Given the description of an element on the screen output the (x, y) to click on. 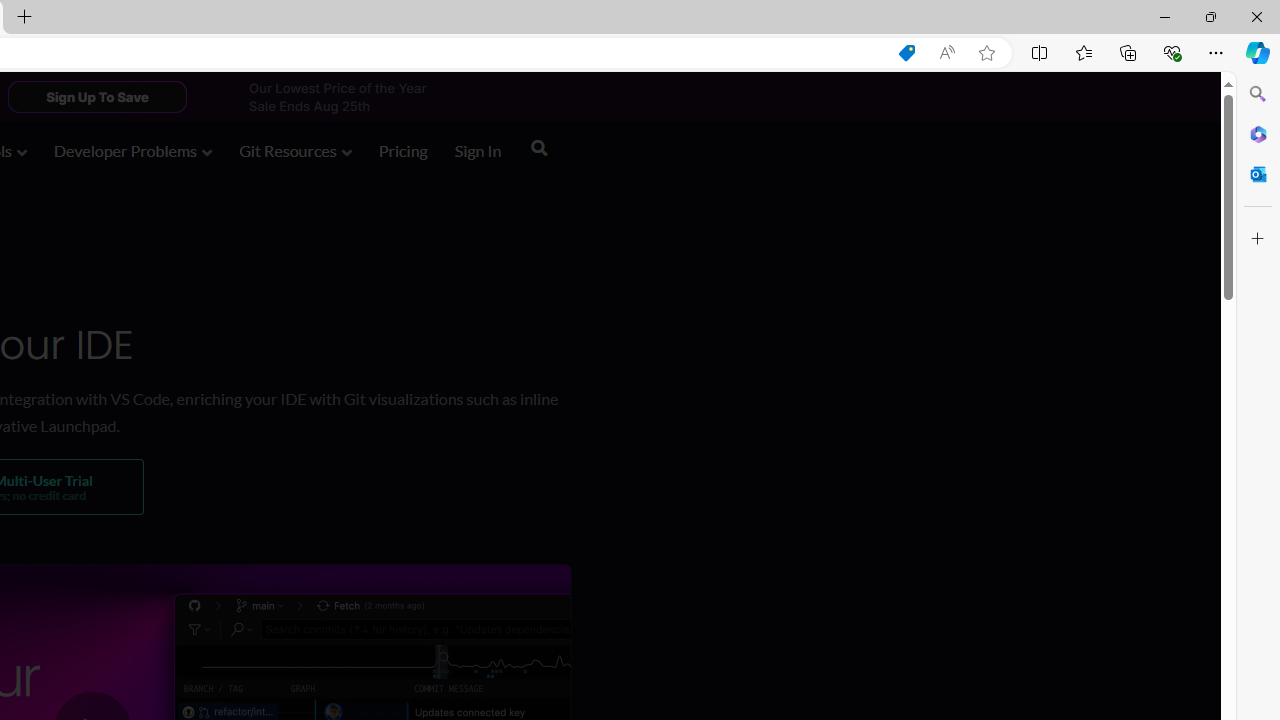
Sign Up To Save (97, 96)
Pricing (403, 152)
Sign In (477, 152)
